Given the description of an element on the screen output the (x, y) to click on. 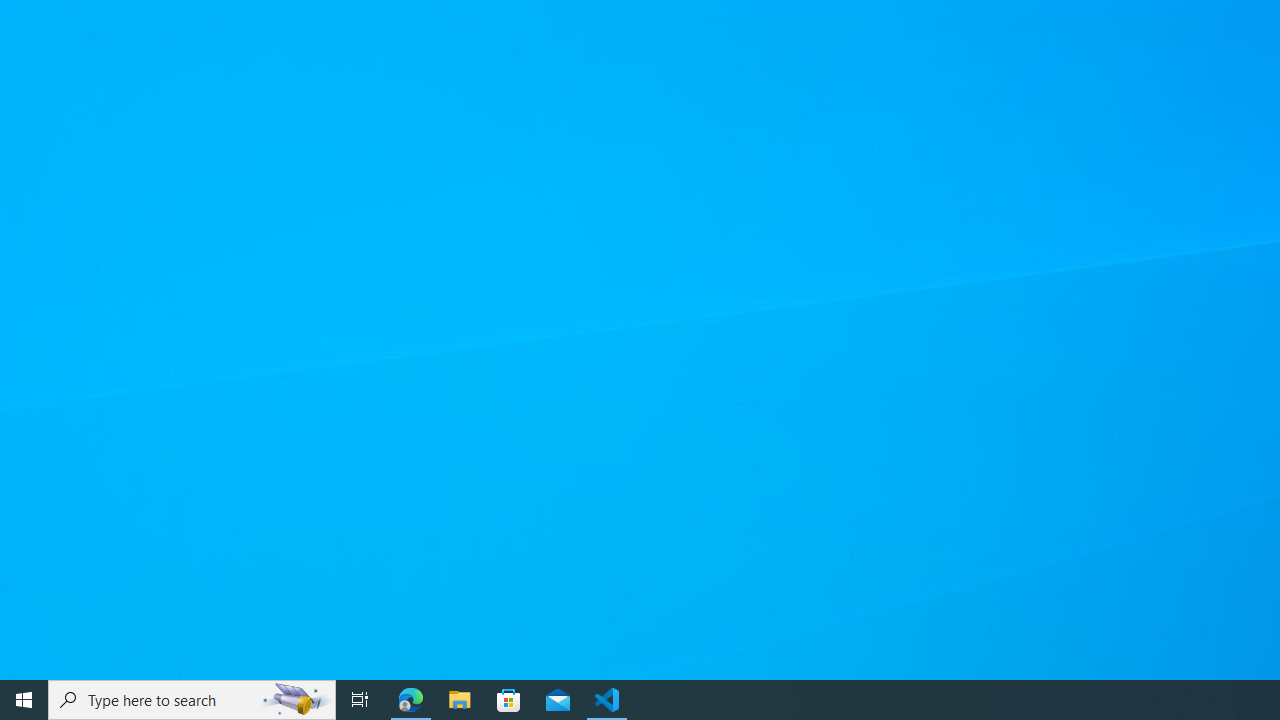
Visual Studio Code - 1 running window (607, 699)
File Explorer (460, 699)
Search highlights icon opens search home window (295, 699)
Start (24, 699)
Microsoft Edge - 1 running window (411, 699)
Microsoft Store (509, 699)
Type here to search (191, 699)
Task View (359, 699)
